Given the description of an element on the screen output the (x, y) to click on. 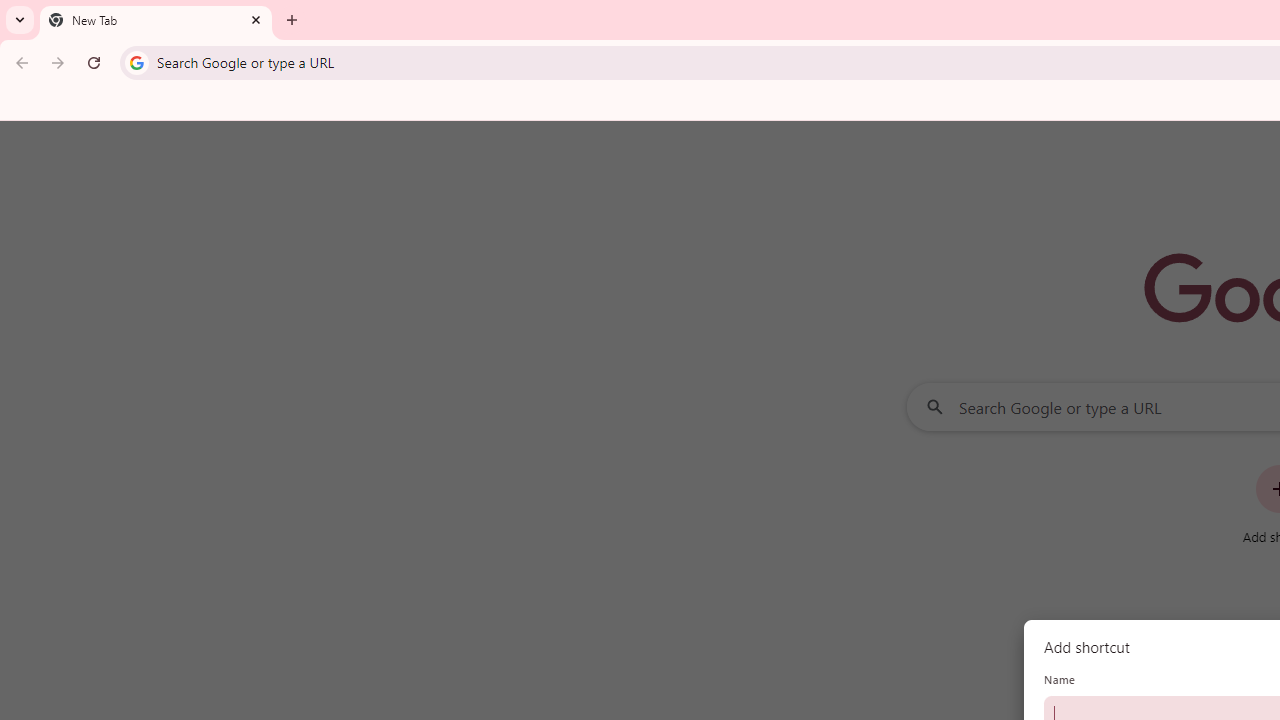
New Tab (156, 20)
